Given the description of an element on the screen output the (x, y) to click on. 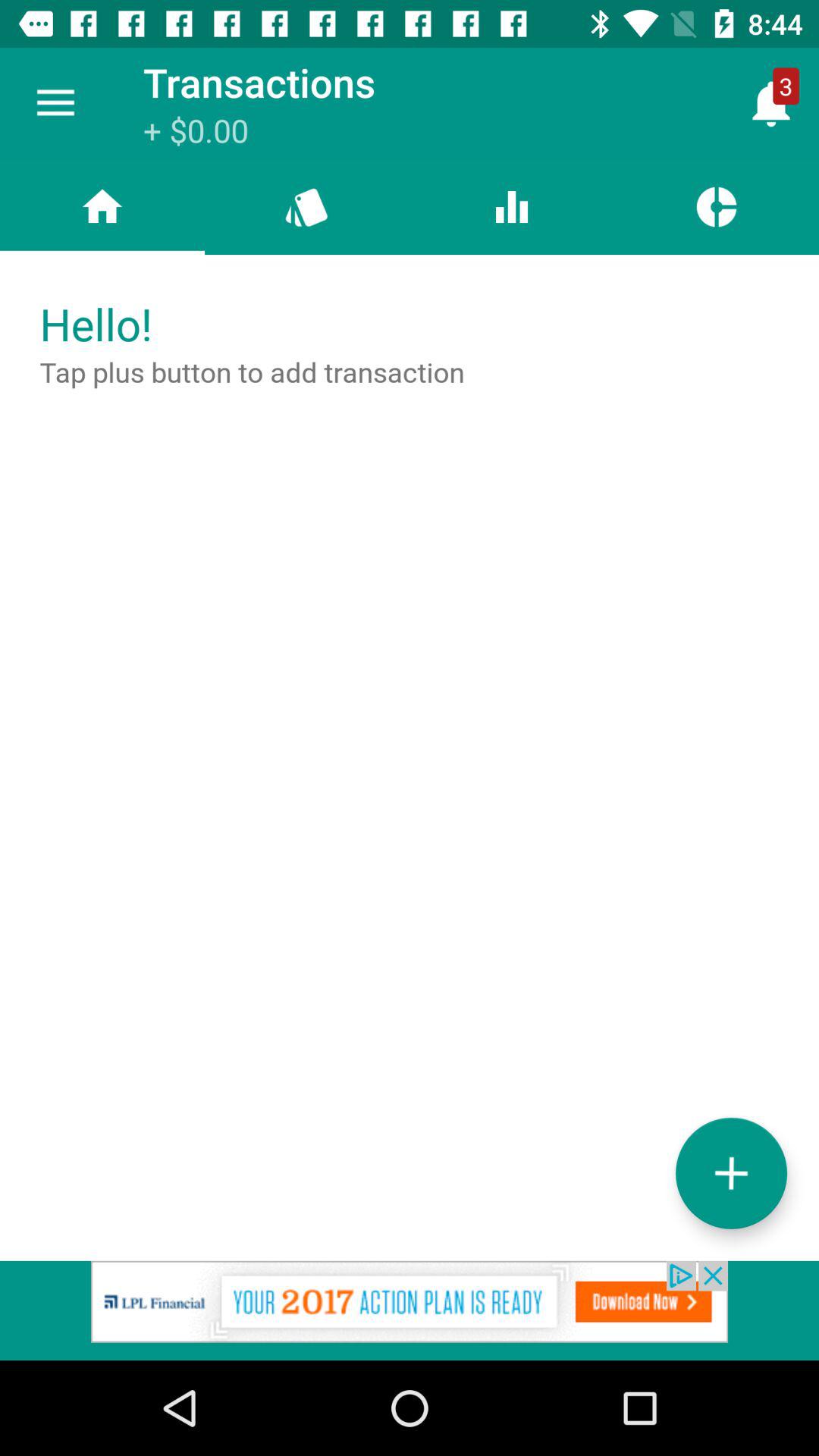
advertisement (409, 1310)
